Given the description of an element on the screen output the (x, y) to click on. 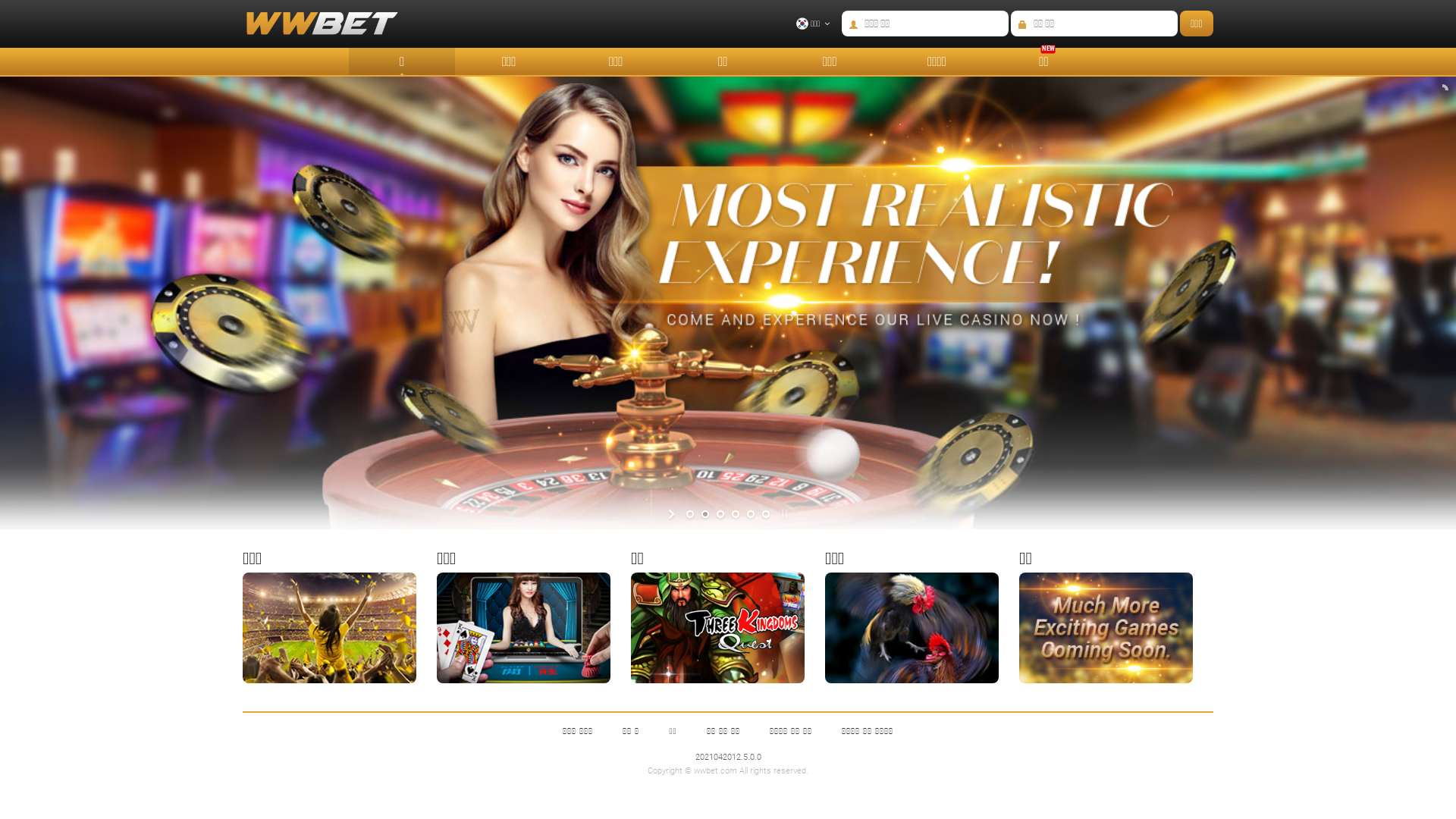
WWBET | Win the game, win the future! Element type: hover (311, 31)
